Given the description of an element on the screen output the (x, y) to click on. 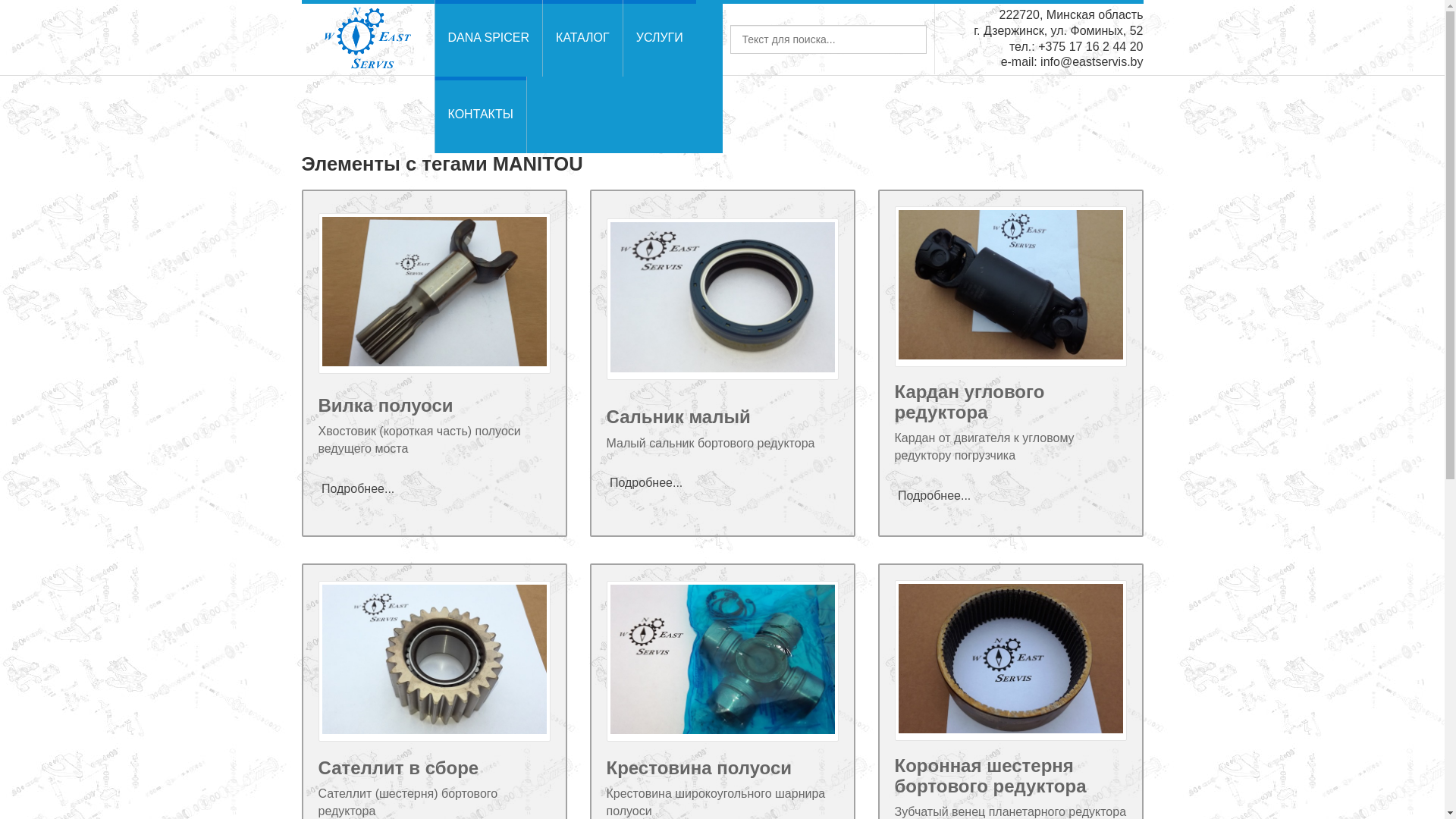
DANA SPICER Element type: text (487, 38)
